Given the description of an element on the screen output the (x, y) to click on. 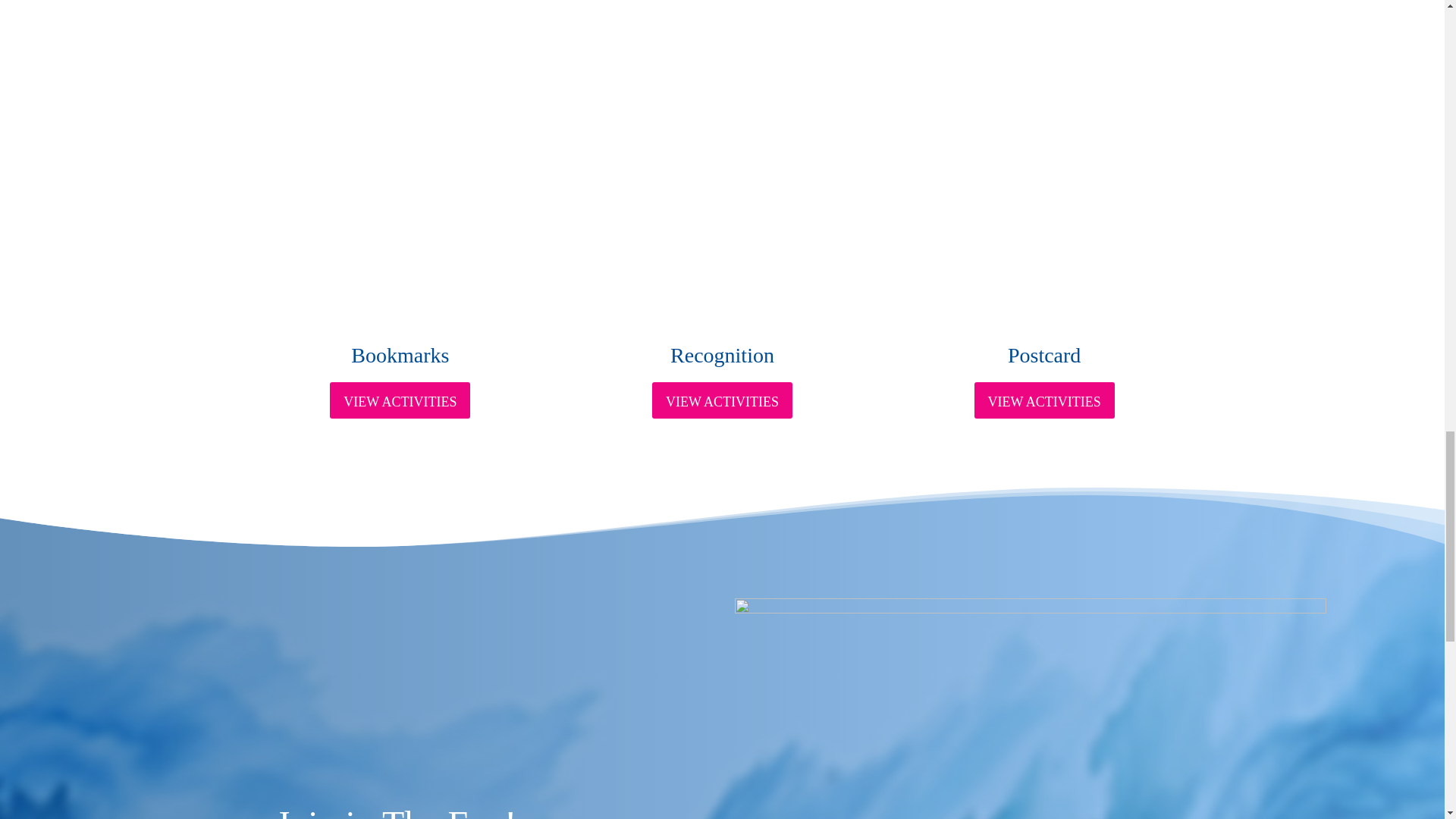
VIEW ACTIVITIES (400, 400)
VIEW ACTIVITIES (1044, 400)
VIEW ACTIVITIES (722, 400)
